Given the description of an element on the screen output the (x, y) to click on. 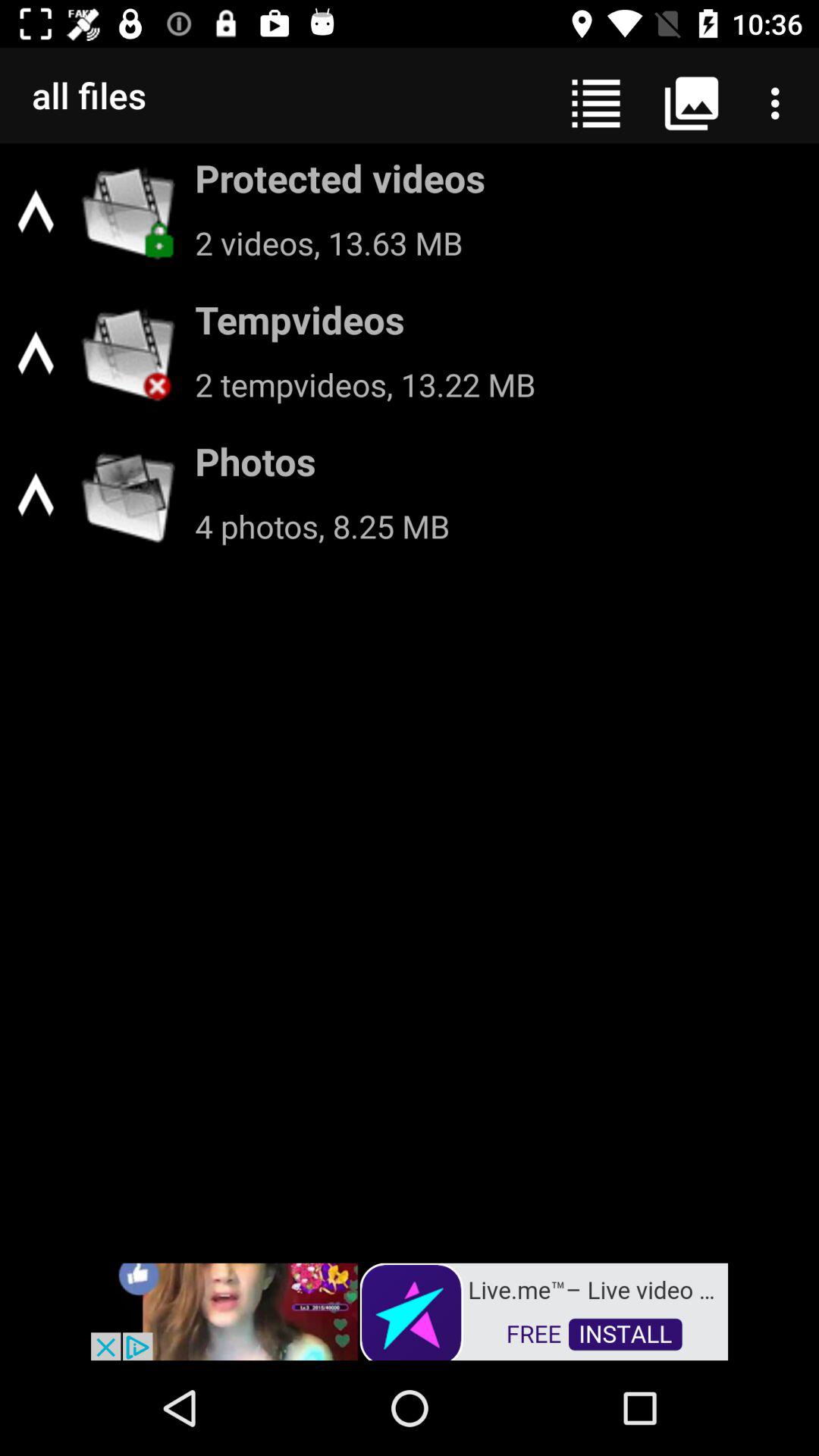
visualizar anncio (409, 1310)
